Given the description of an element on the screen output the (x, y) to click on. 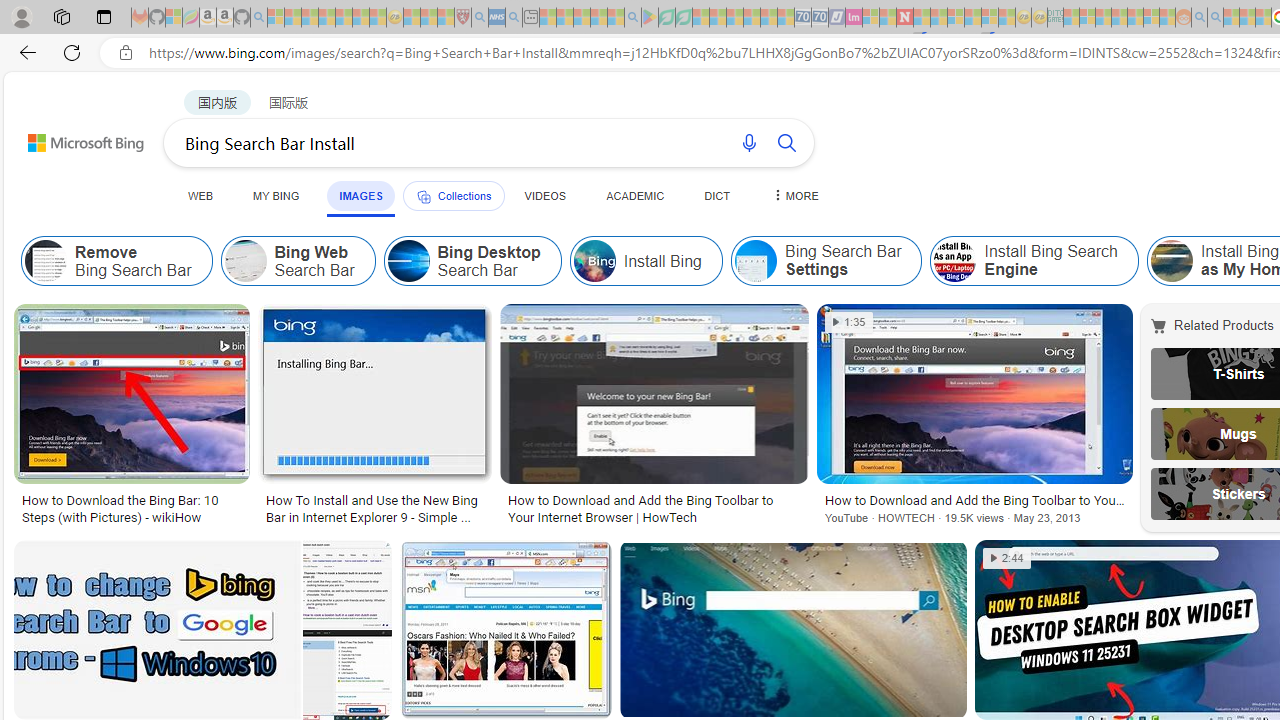
Search using voice (748, 142)
Class: item col (1034, 260)
WEB (201, 195)
Install Bing (645, 260)
